Given the description of an element on the screen output the (x, y) to click on. 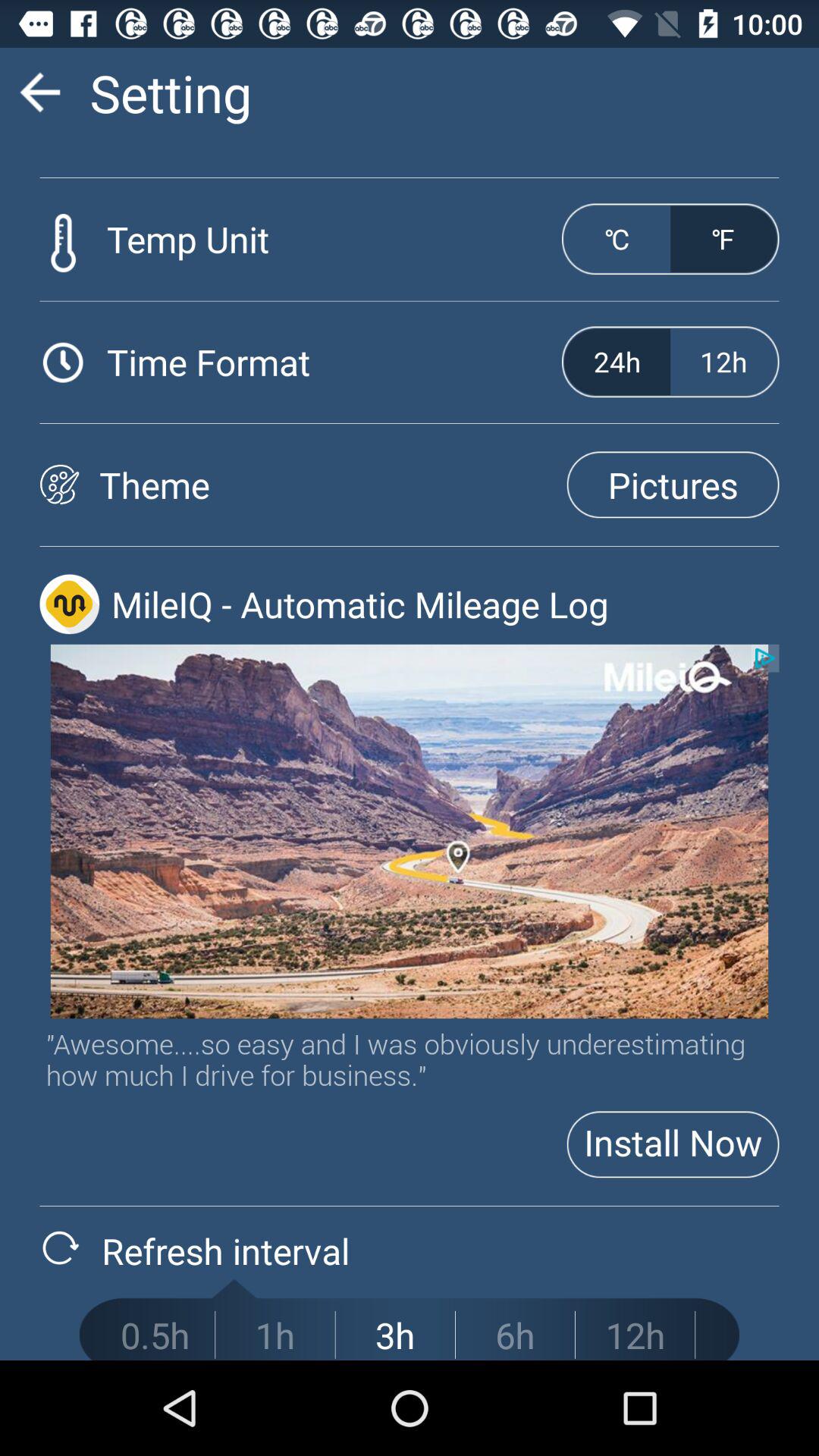
launch the icon below awesome so easy icon (673, 1144)
